Given the description of an element on the screen output the (x, y) to click on. 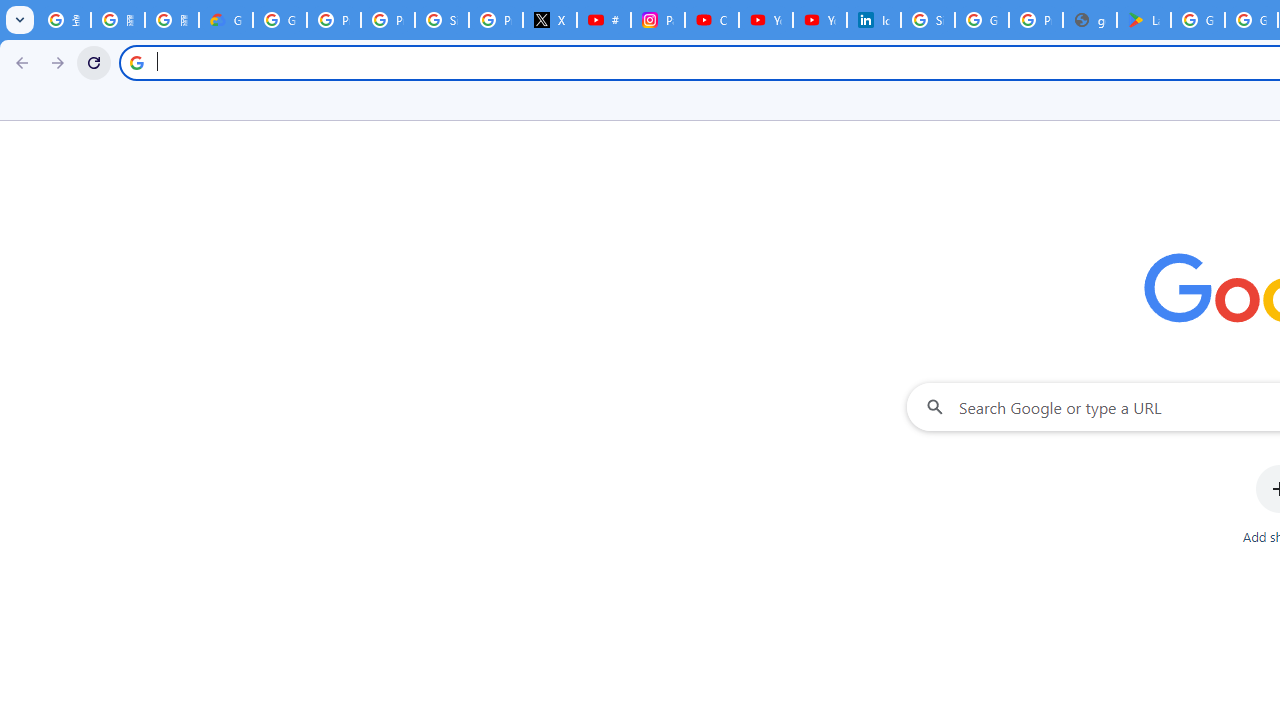
Google Cloud Privacy Notice (225, 20)
Sign in - Google Accounts (441, 20)
#nbabasketballhighlights - YouTube (604, 20)
Sign in - Google Accounts (927, 20)
